Given the description of an element on the screen output the (x, y) to click on. 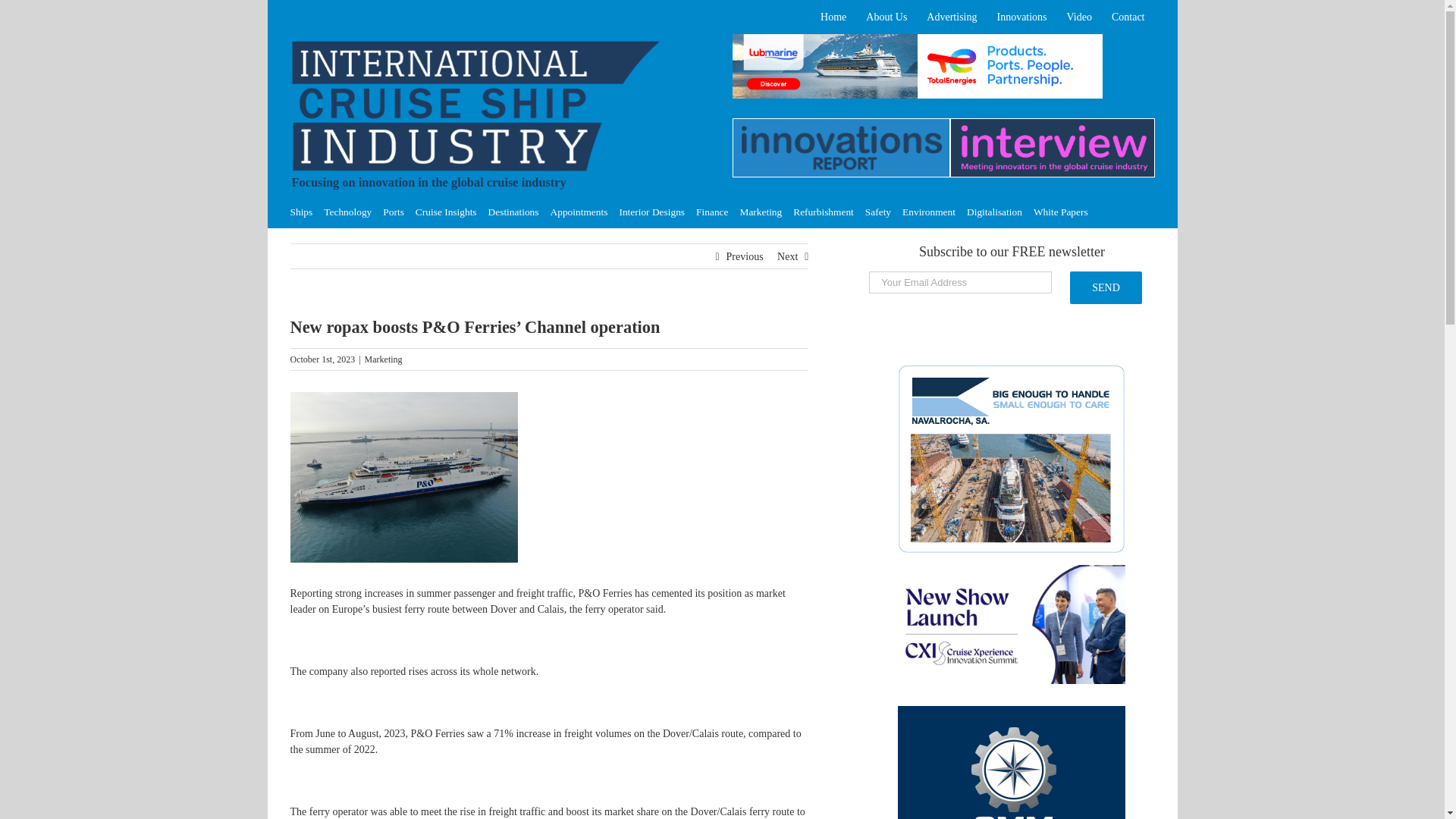
Safety (877, 212)
Marketing (760, 212)
Ports (393, 212)
Appointments (579, 212)
About Us (886, 16)
Contact (1128, 16)
Send (1105, 287)
Advertising (952, 16)
Video (1079, 16)
Refurbishment (823, 212)
Destinations (512, 212)
White Papers (1060, 212)
Innovations (1022, 16)
Home (833, 16)
Finance (711, 212)
